Given the description of an element on the screen output the (x, y) to click on. 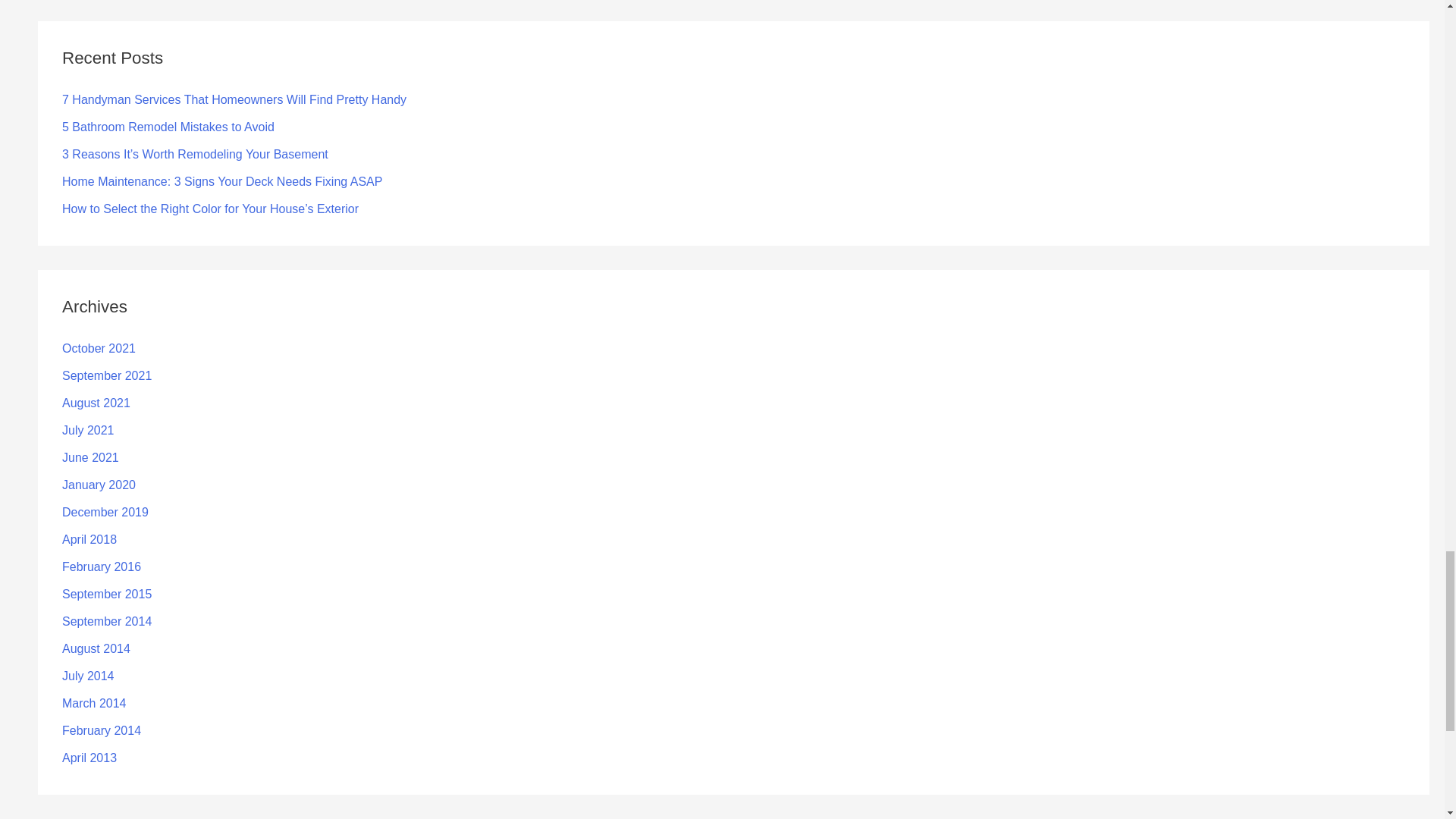
September 2014 (106, 621)
June 2021 (90, 457)
September 2021 (106, 375)
7 Handyman Services That Homeowners Will Find Pretty Handy (234, 99)
August 2021 (96, 402)
October 2021 (98, 348)
January 2020 (98, 484)
April 2018 (89, 539)
July 2021 (88, 430)
Home Maintenance: 3 Signs Your Deck Needs Fixing ASAP (221, 181)
August 2014 (96, 648)
December 2019 (105, 512)
5 Bathroom Remodel Mistakes to Avoid (168, 126)
September 2015 (106, 594)
February 2016 (101, 566)
